Given the description of an element on the screen output the (x, y) to click on. 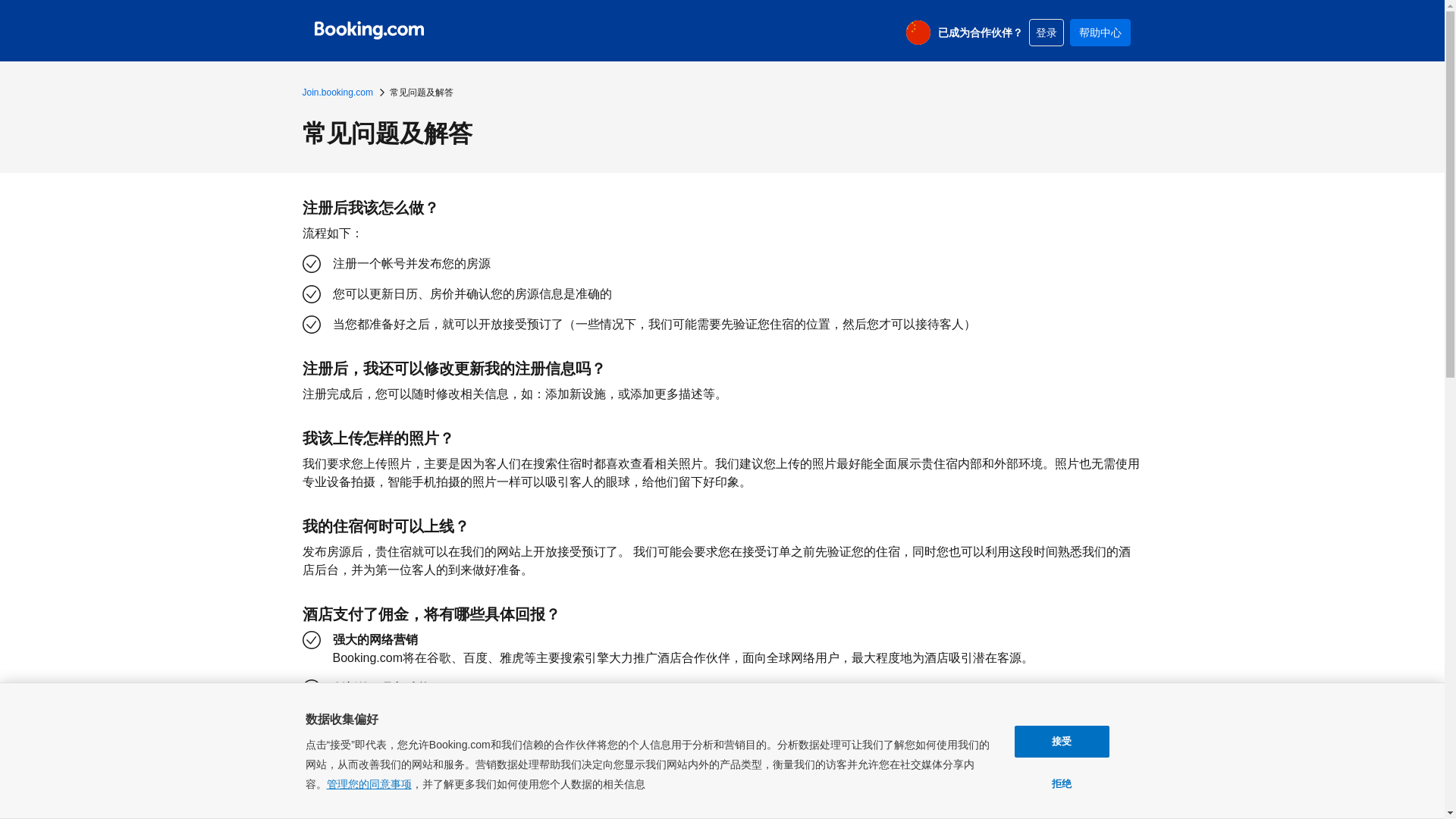
Join.booking.com (336, 92)
